Given the description of an element on the screen output the (x, y) to click on. 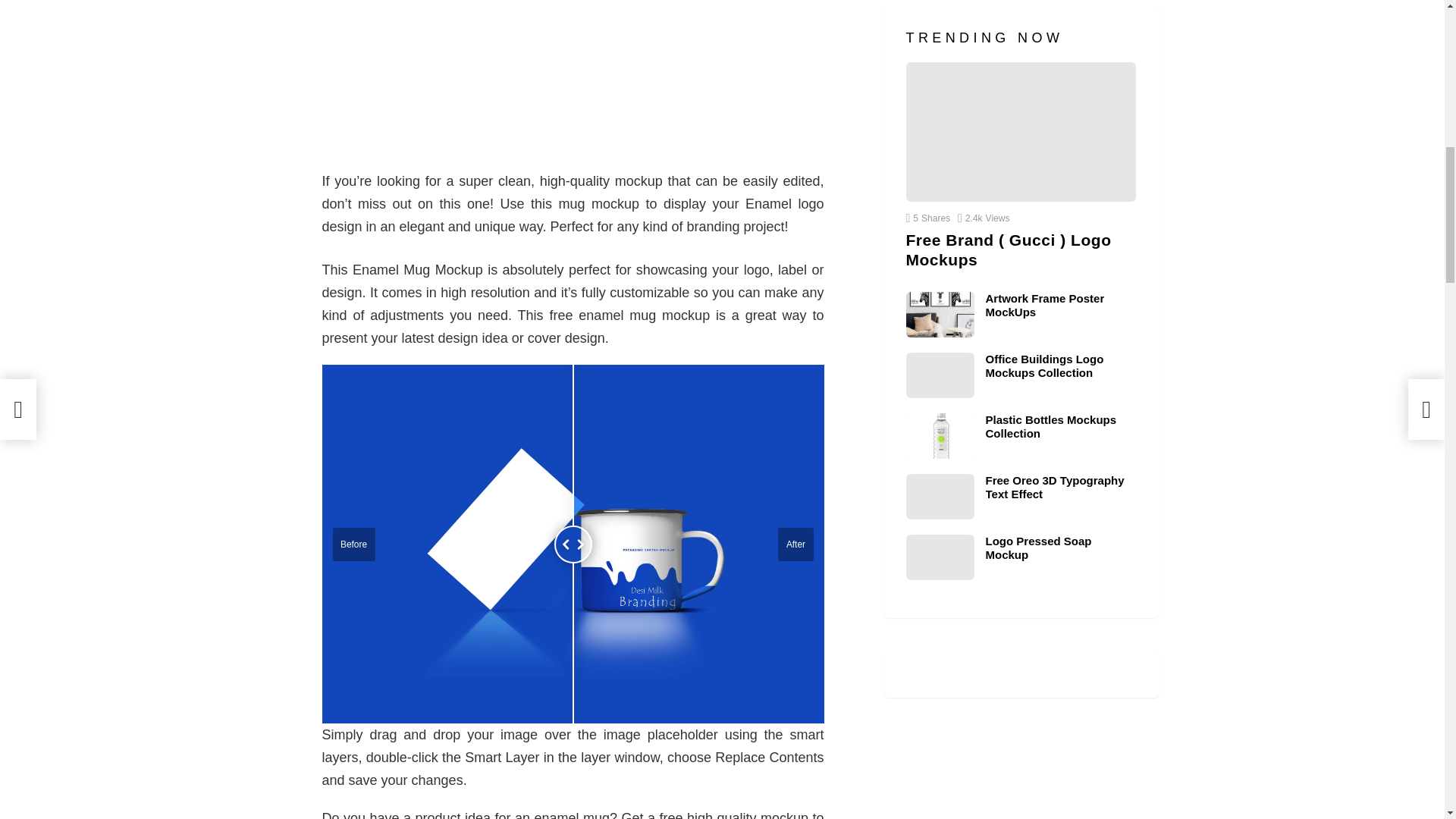
Advertisement (572, 78)
